Given the description of an element on the screen output the (x, y) to click on. 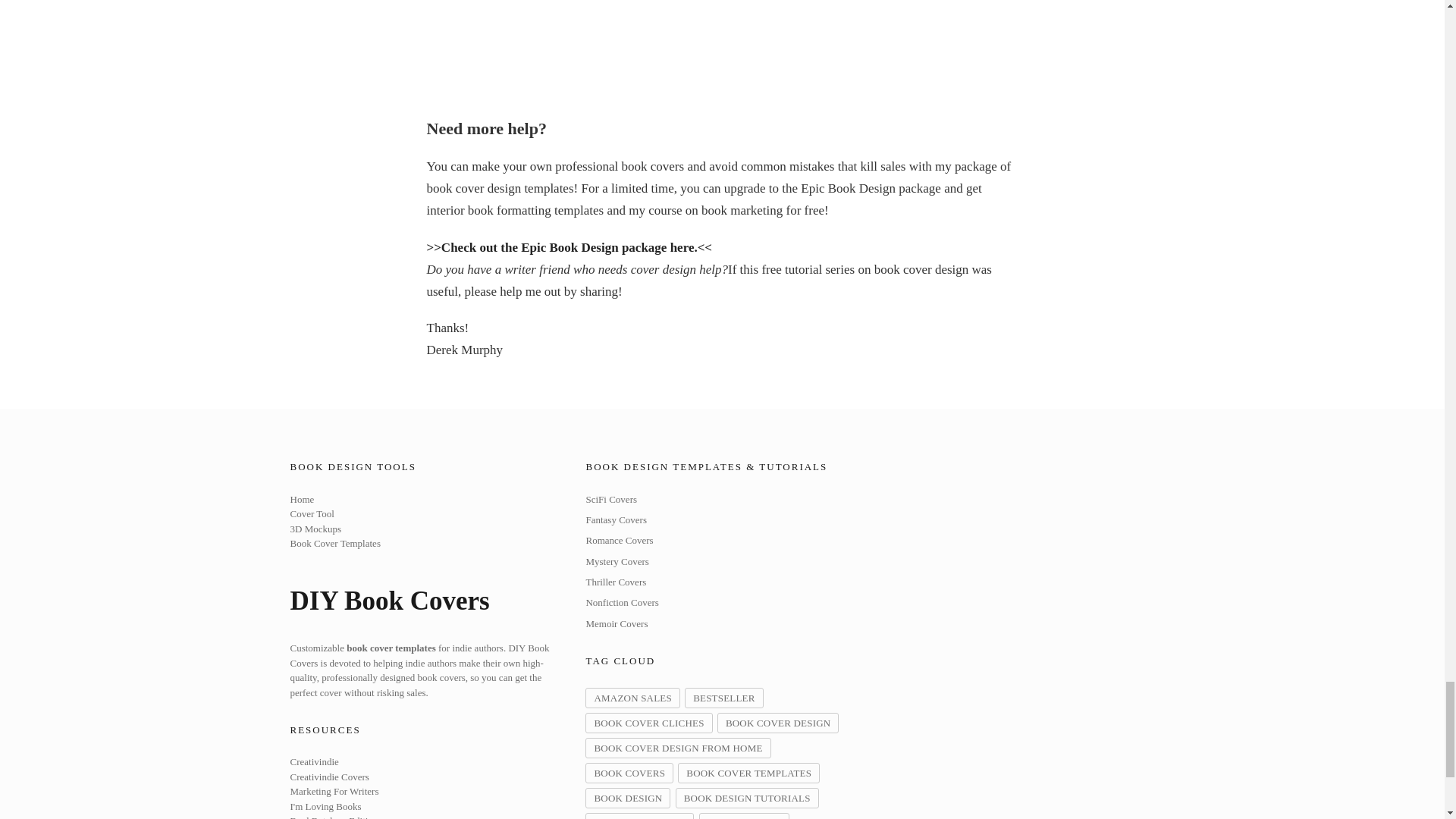
Book Cover Templates (334, 543)
Nonfiction Covers (621, 602)
Fantasy Covers (615, 519)
SciFi Covers (611, 499)
Marketing For Writers (333, 791)
BOOK COVER CLICHES (648, 722)
Thriller Covers (615, 582)
Creativindie (313, 761)
BOOK COVER DESIGN (777, 722)
AMAZON SALES (632, 697)
